Given the description of an element on the screen output the (x, y) to click on. 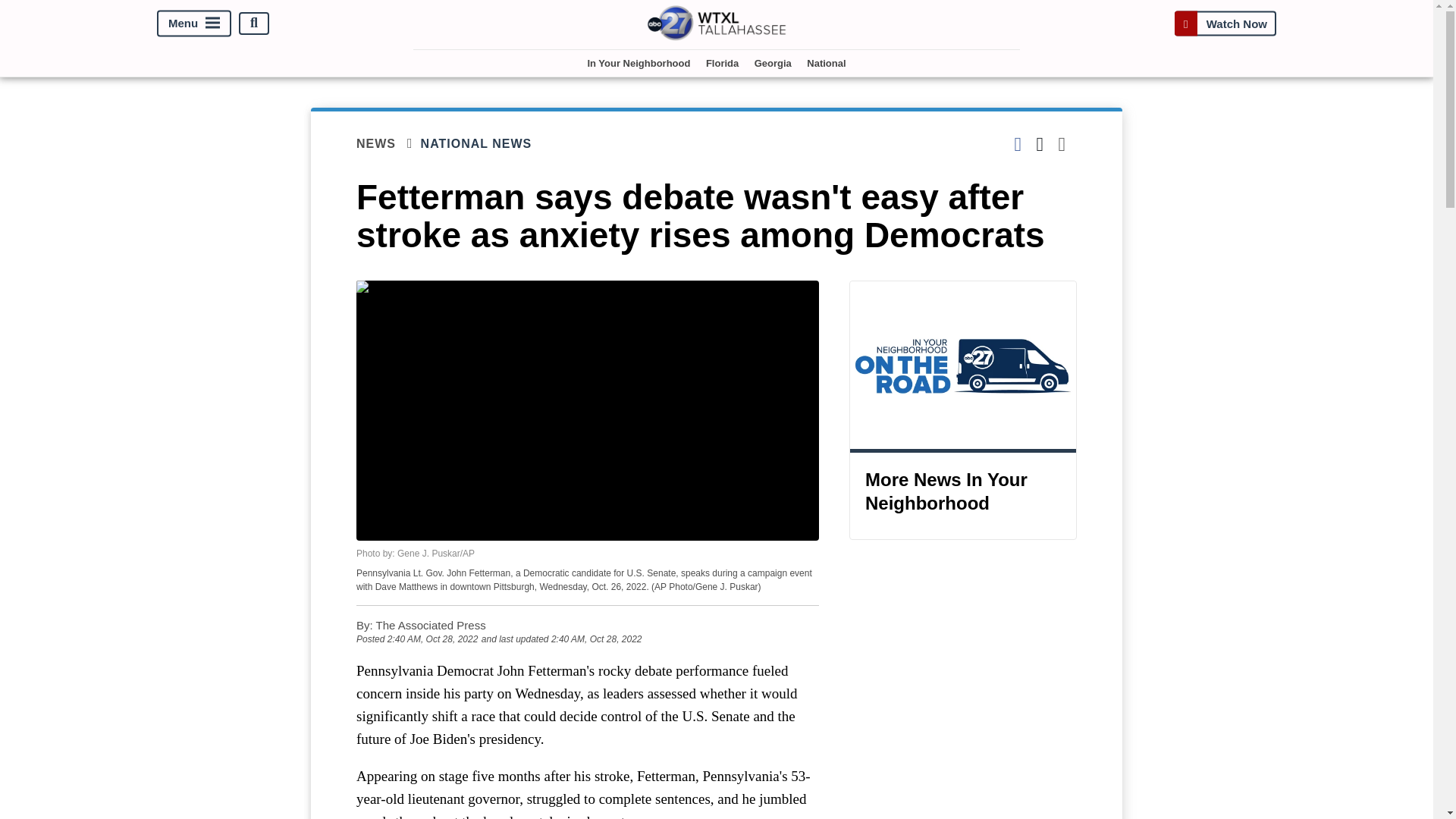
Watch Now (1224, 22)
Menu (194, 22)
